Given the description of an element on the screen output the (x, y) to click on. 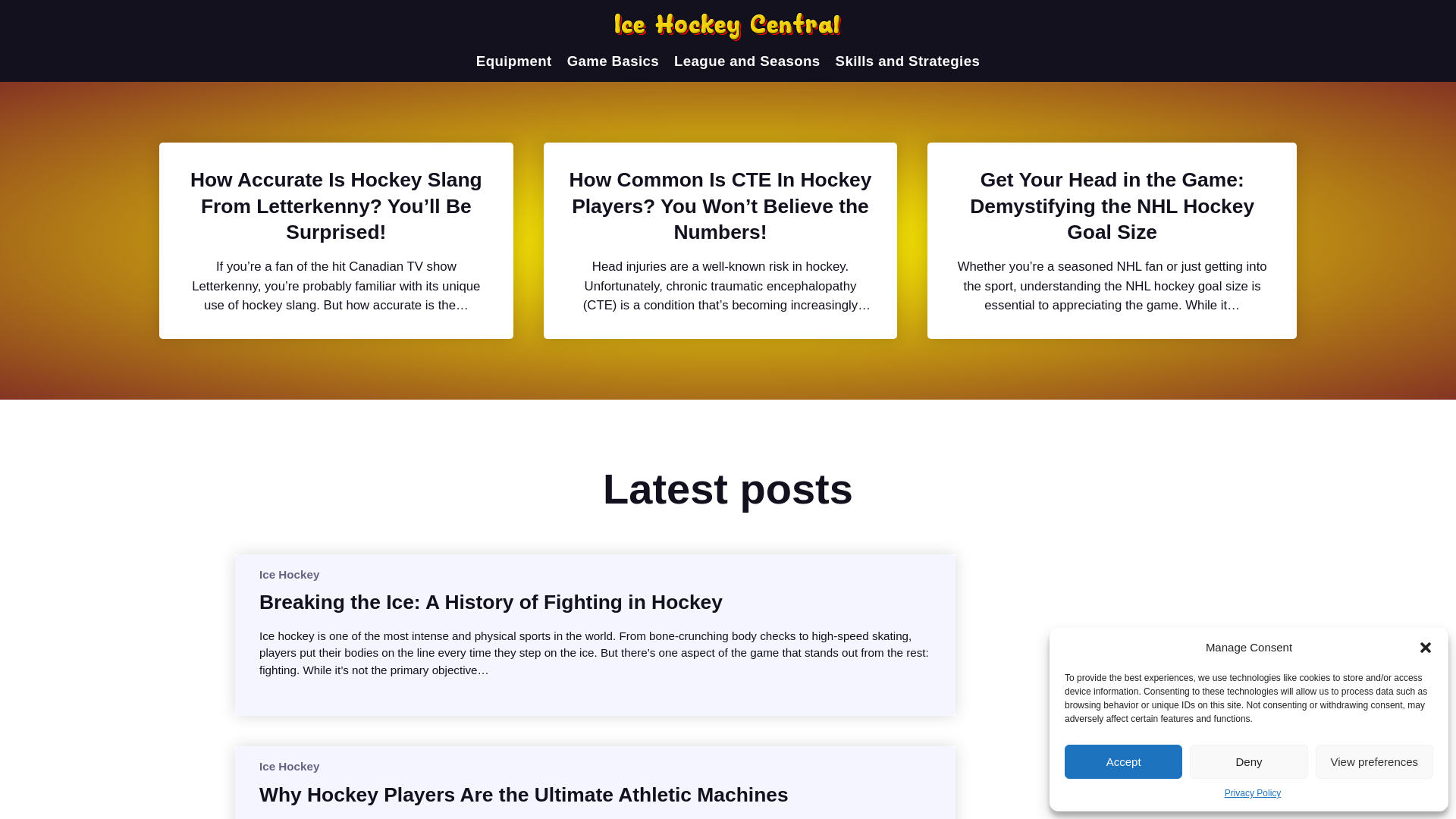
Accept (1123, 761)
Equipment (513, 61)
Ice Hockey (288, 766)
Skills and Strategies (907, 61)
Deny (1248, 761)
Game Basics (613, 61)
Privacy Policy (1252, 793)
League and Seasons (746, 61)
Ice Hockey (288, 573)
View preferences (1374, 761)
